Given the description of an element on the screen output the (x, y) to click on. 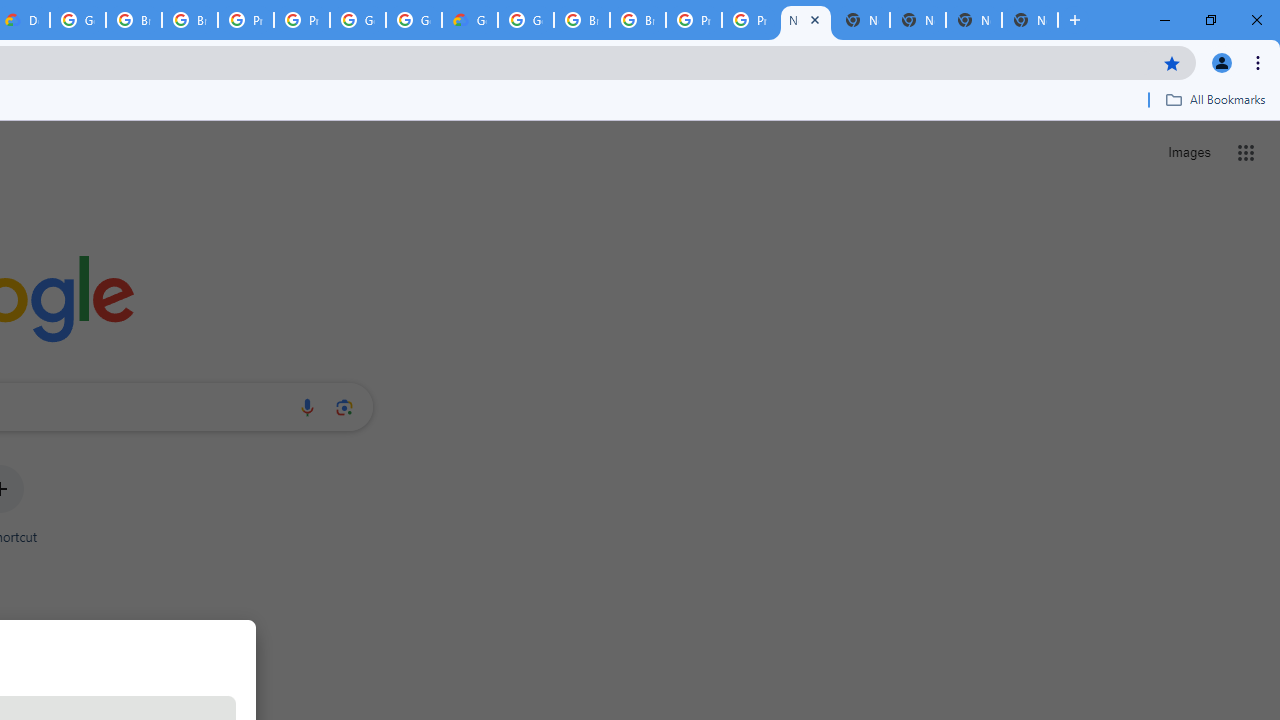
Browse Chrome as a guest - Computer - Google Chrome Help (134, 20)
Google Cloud Platform (413, 20)
